Given the description of an element on the screen output the (x, y) to click on. 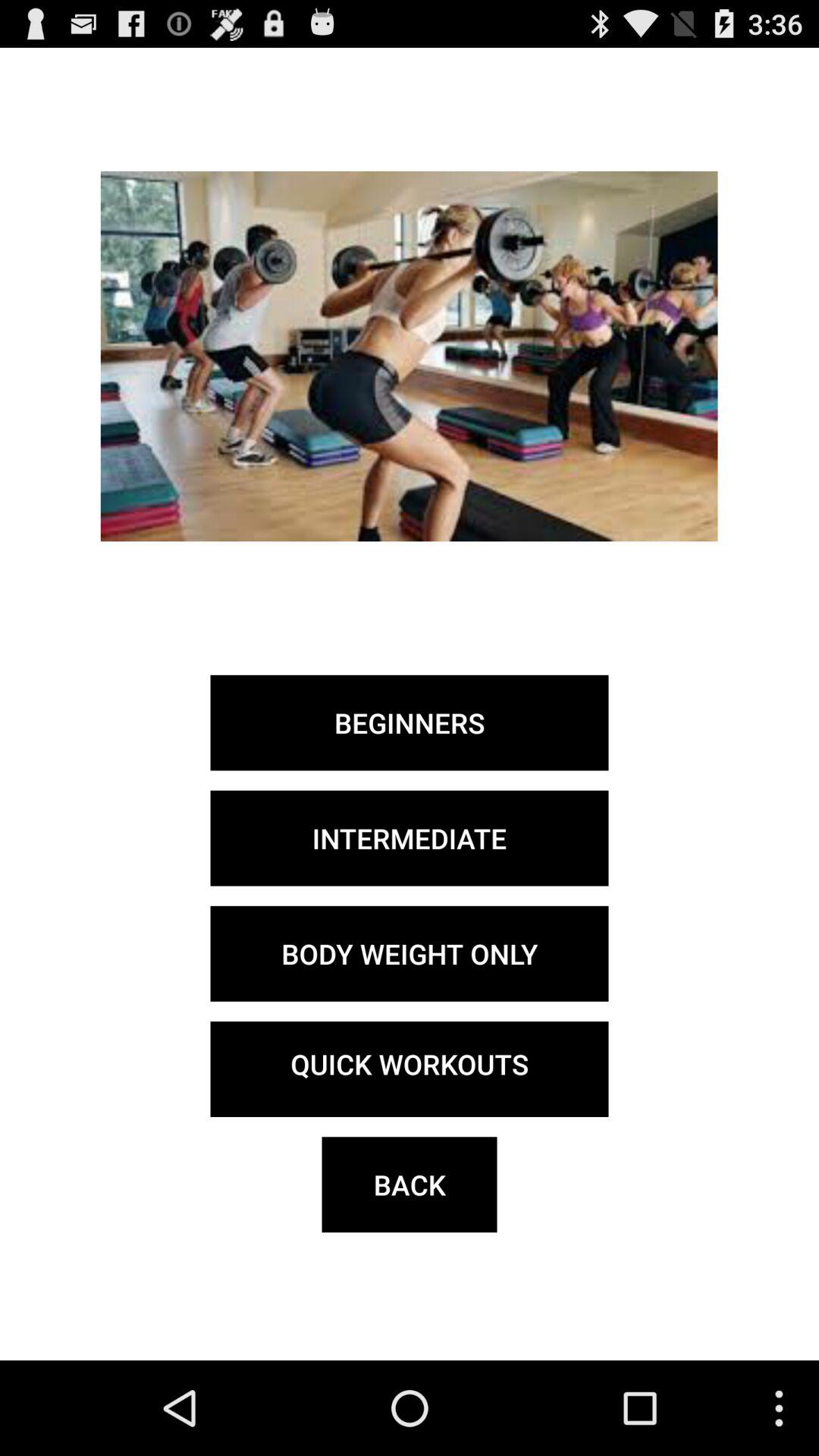
choose the quick workouts button (409, 1069)
